Given the description of an element on the screen output the (x, y) to click on. 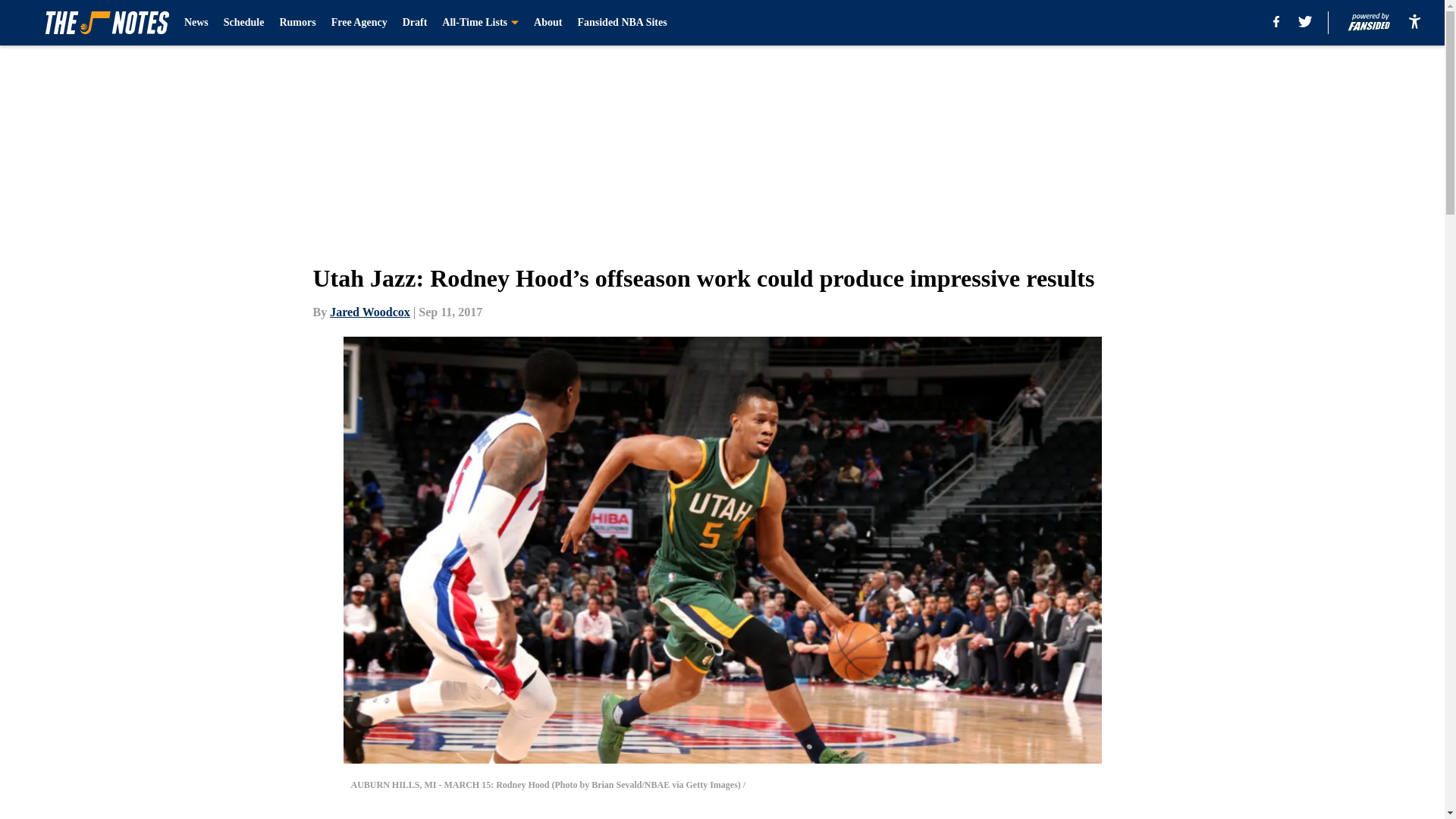
Rumors (297, 22)
Fansided NBA Sites (621, 22)
Free Agency (359, 22)
All-Time Lists (480, 22)
News (196, 22)
Jared Woodcox (370, 311)
Schedule (244, 22)
Draft (415, 22)
About (548, 22)
